Given the description of an element on the screen output the (x, y) to click on. 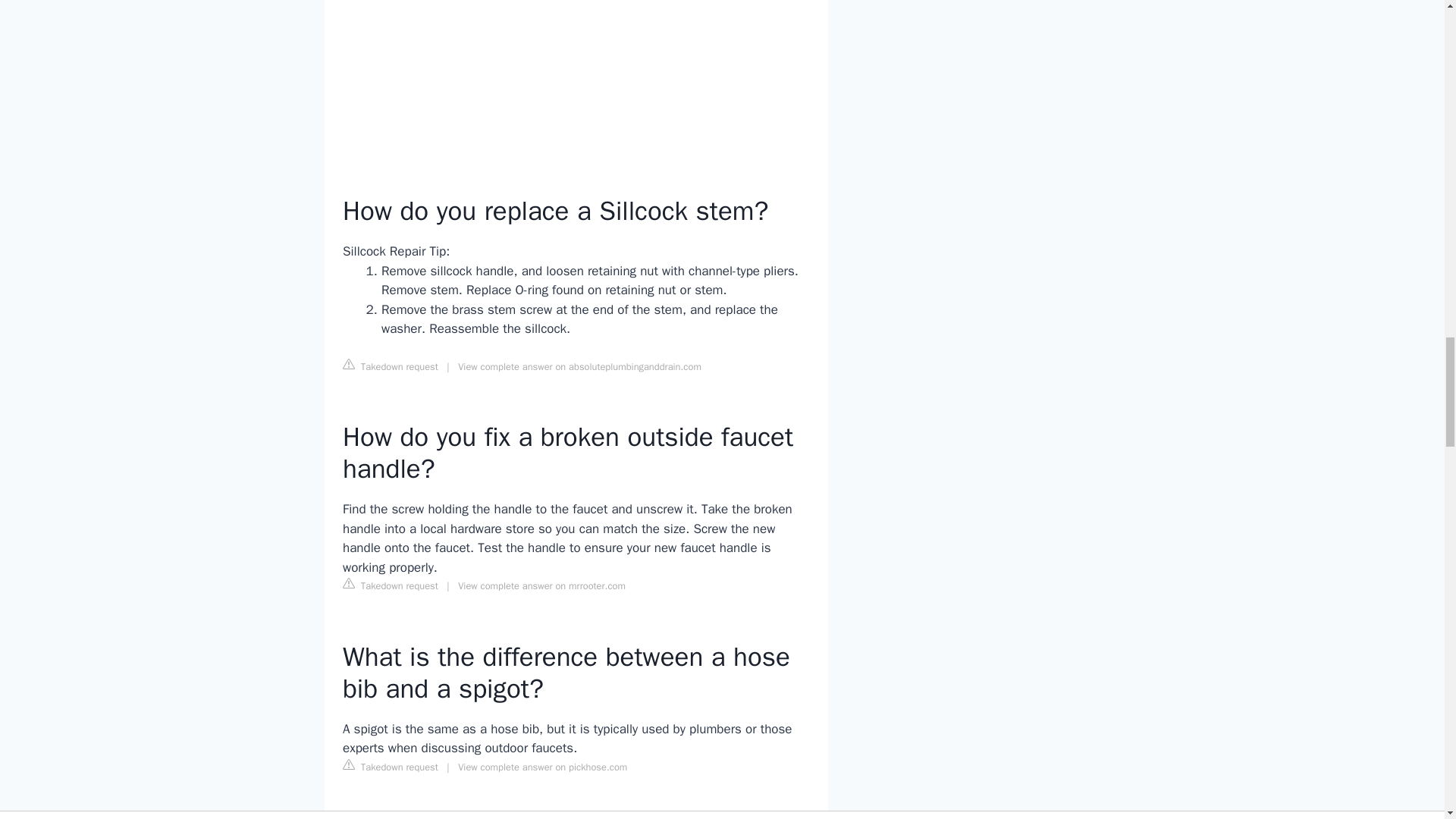
Takedown request (390, 585)
View complete answer on absoluteplumbinganddrain.com (579, 367)
View complete answer on mrrooter.com (542, 585)
View complete answer on pickhose.com (542, 767)
Takedown request (390, 766)
Takedown request (390, 365)
